Given the description of an element on the screen output the (x, y) to click on. 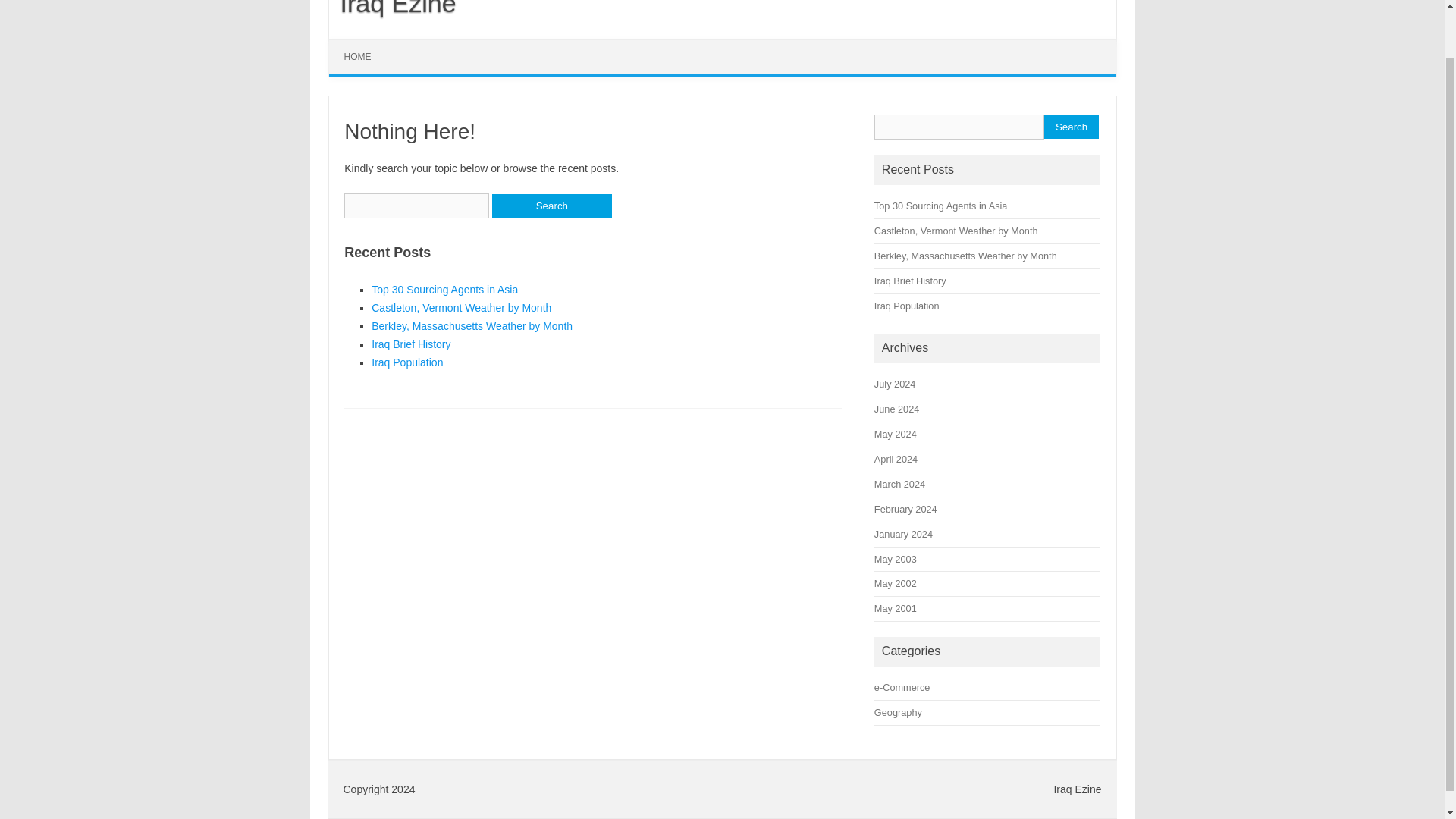
Search (1070, 126)
Berkley, Massachusetts Weather by Month (471, 326)
Iraq Brief History (410, 344)
April 2024 (896, 459)
Skip to content (363, 44)
Iraq Population (406, 362)
Top 30 Sourcing Agents in Asia (444, 289)
May 2002 (896, 583)
e-Commerce (902, 686)
June 2024 (896, 408)
